Given the description of an element on the screen output the (x, y) to click on. 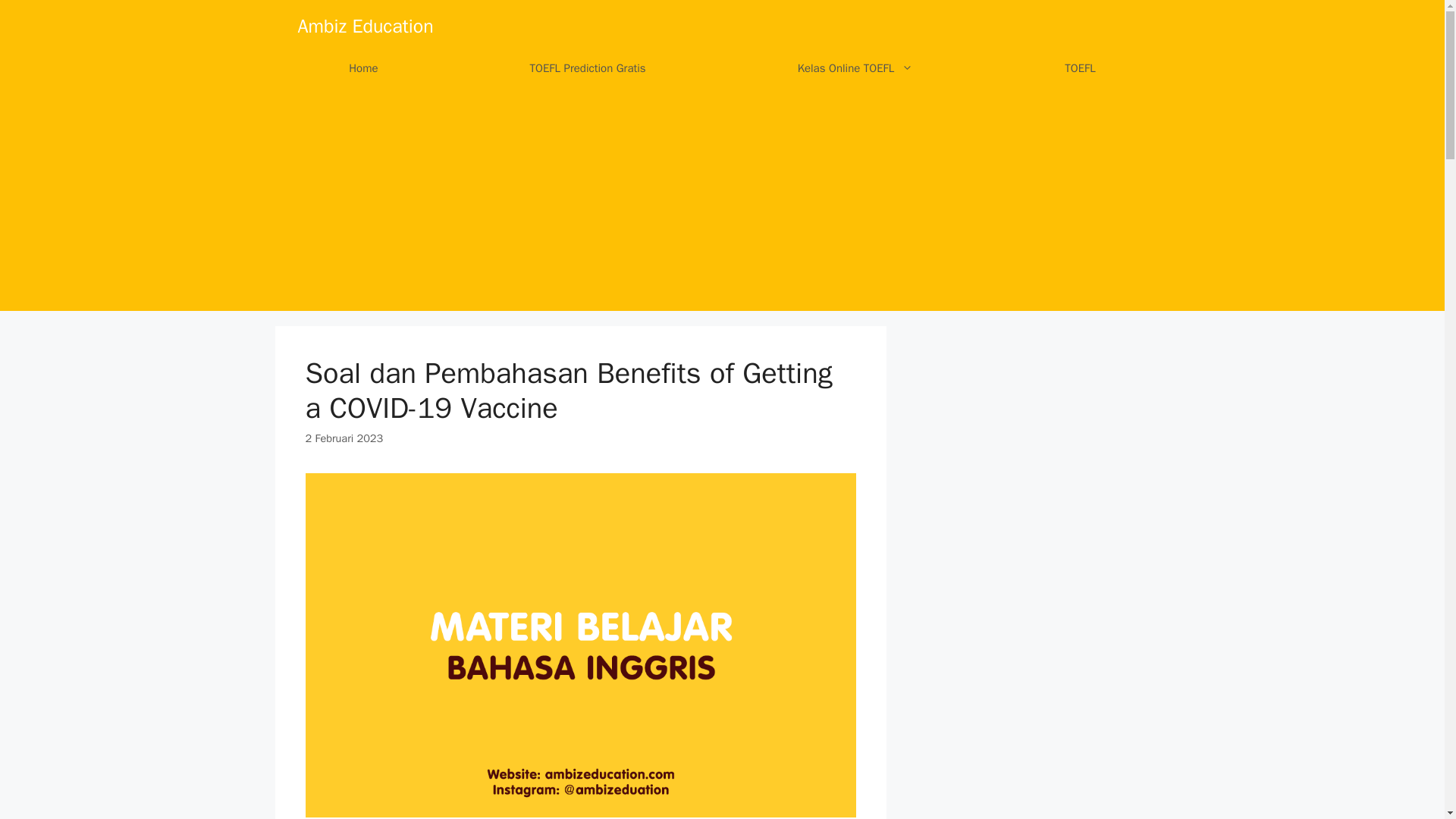
Kelas Online TOEFL (856, 68)
Home (362, 68)
Ambiz Education (364, 25)
TOEFL (1079, 68)
TOEFL Prediction Gratis (588, 68)
